Given the description of an element on the screen output the (x, y) to click on. 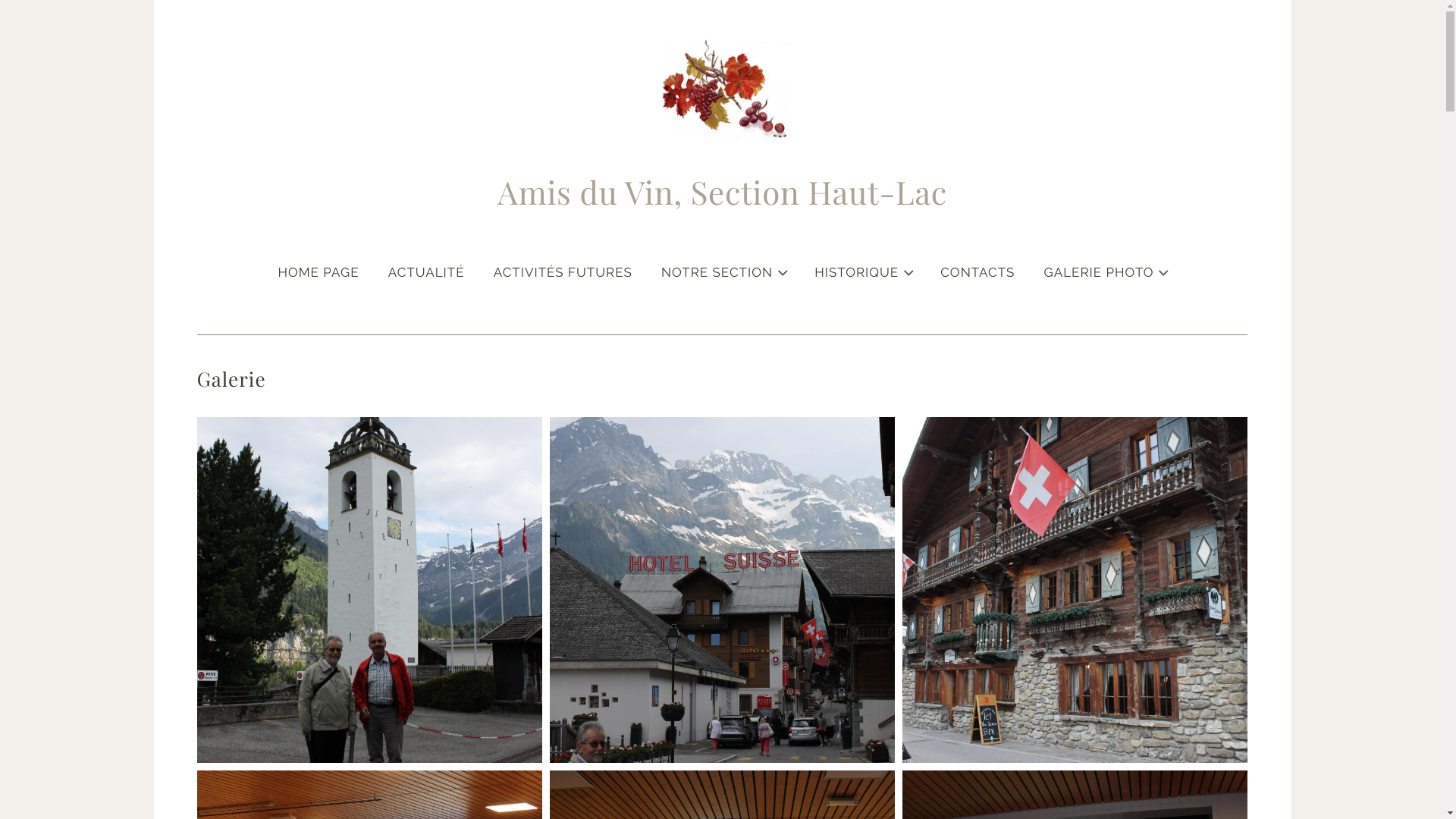
CONTACTS Element type: text (977, 271)
logo Element type: hover (721, 88)
HOME PAGE Element type: text (317, 271)
Amis du Vin, Section Haut-Lac Element type: text (722, 194)
